Given the description of an element on the screen output the (x, y) to click on. 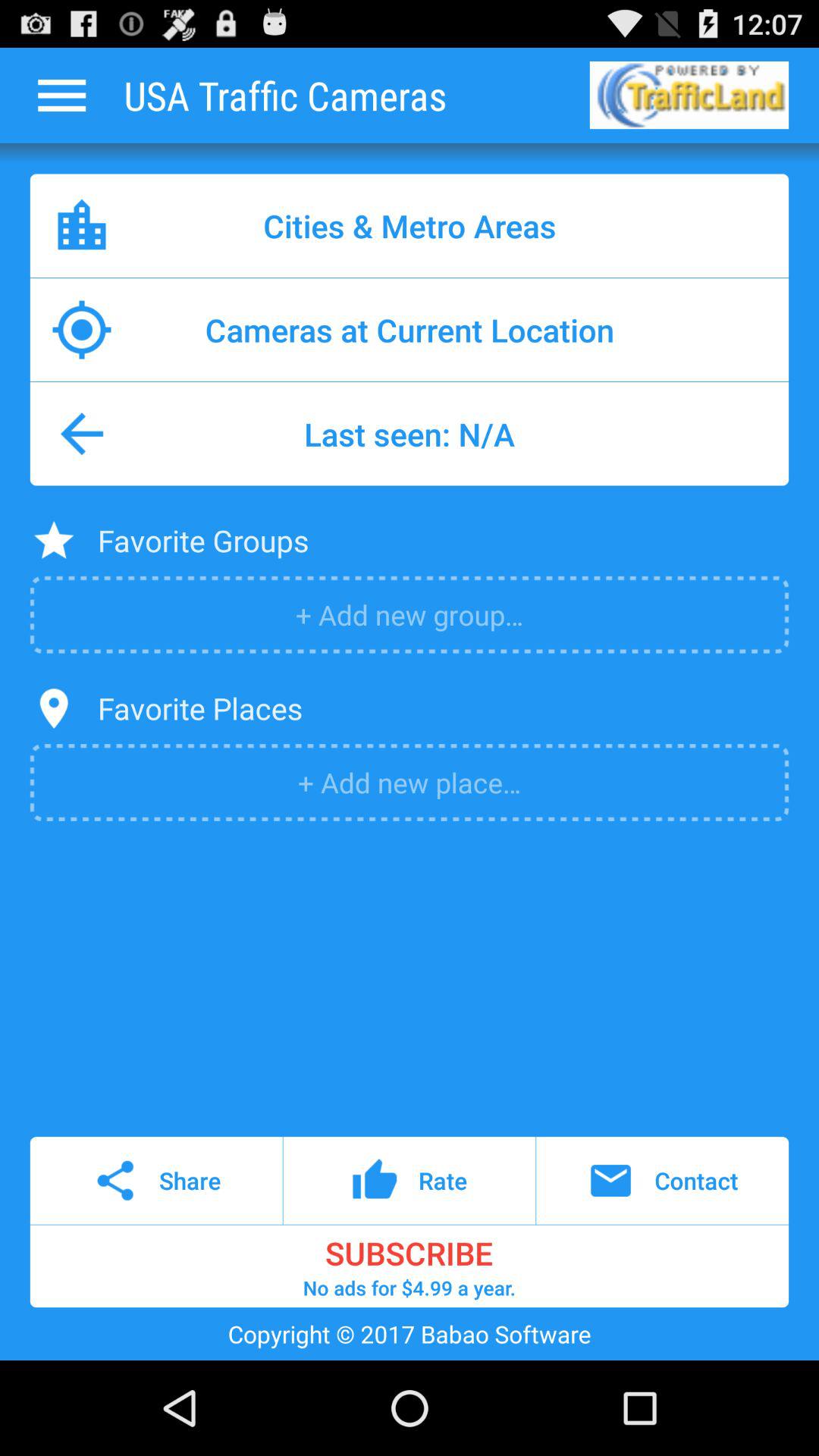
select the item to the left of favorite places icon (53, 708)
